Given the description of an element on the screen output the (x, y) to click on. 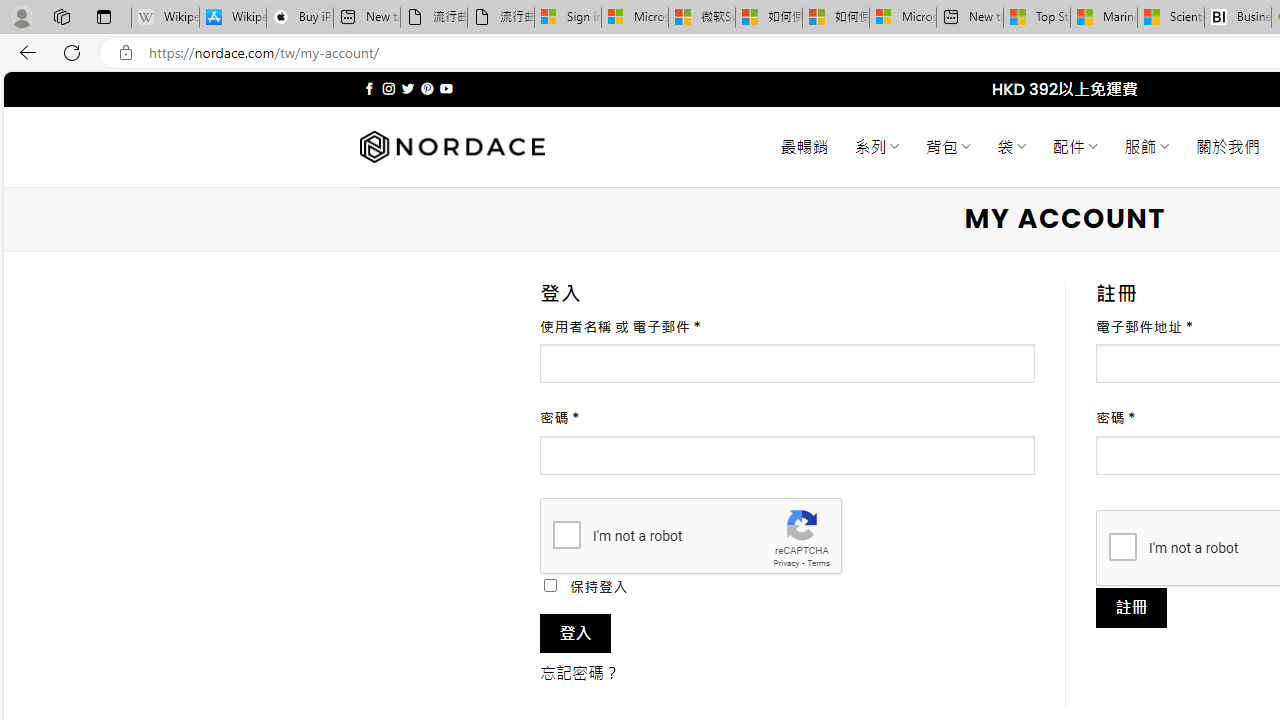
Follow on YouTube (446, 88)
Follow on Facebook (369, 88)
